Given the description of an element on the screen output the (x, y) to click on. 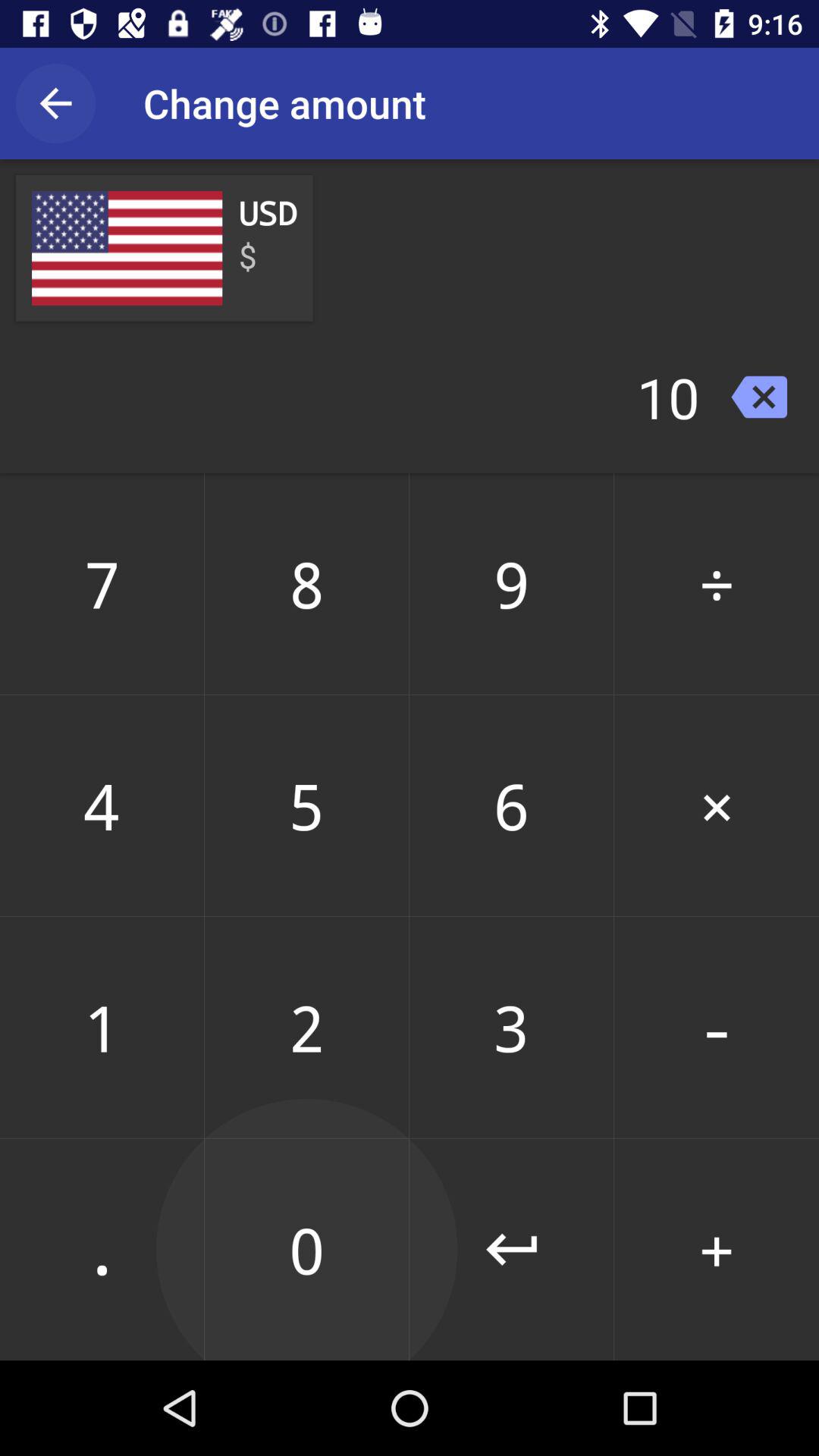
turn off icon next to 2 (511, 1249)
